Given the description of an element on the screen output the (x, y) to click on. 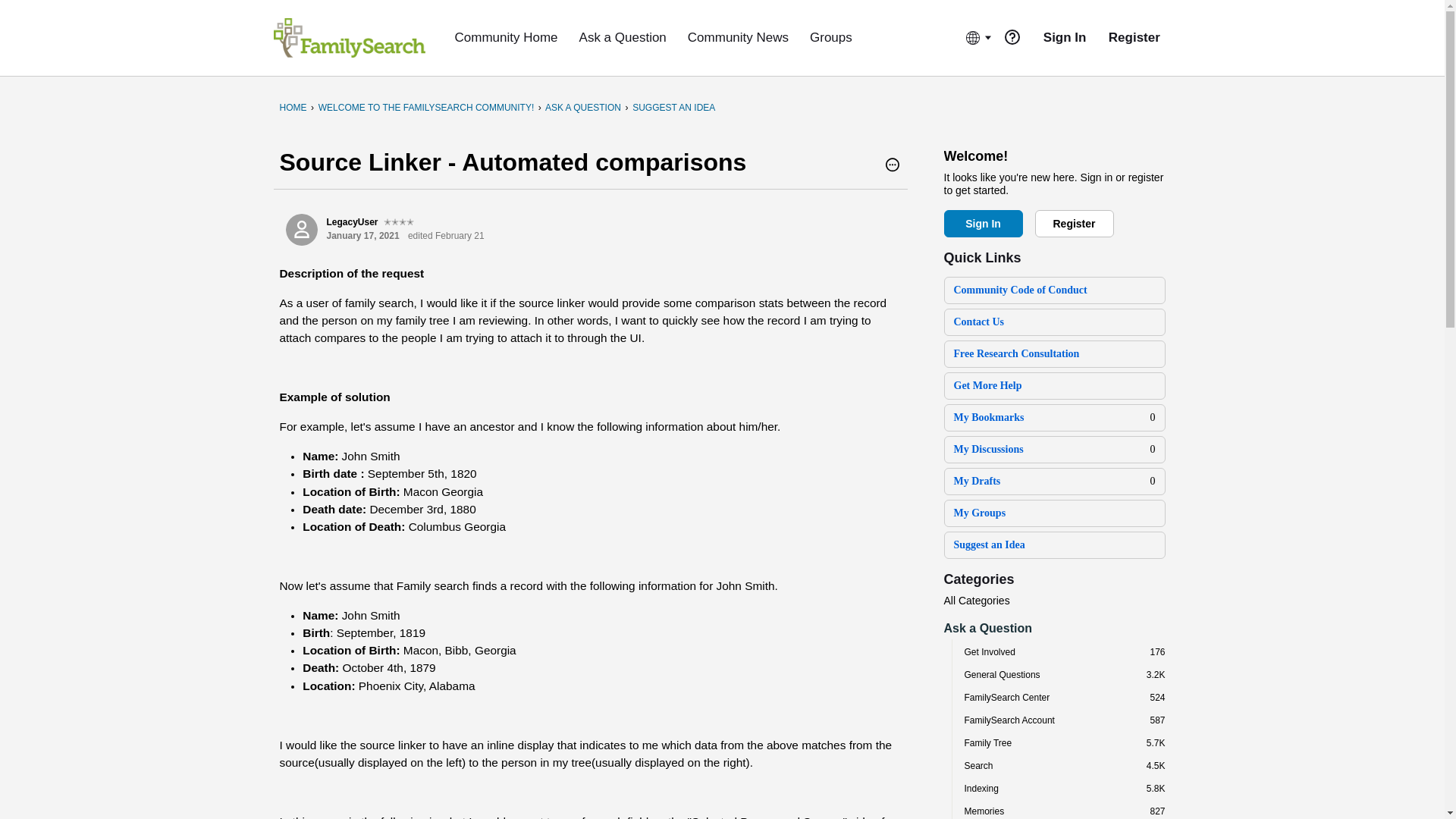
LegacyUser (301, 229)
notice-question (1012, 36)
January 17, 2021 8:52PM (362, 235)
Level 4 (398, 222)
Edited February 21, 2024 2:37AM by Stephanie V.. (445, 235)
Sign In (982, 222)
Register (1073, 222)
